Given the description of an element on the screen output the (x, y) to click on. 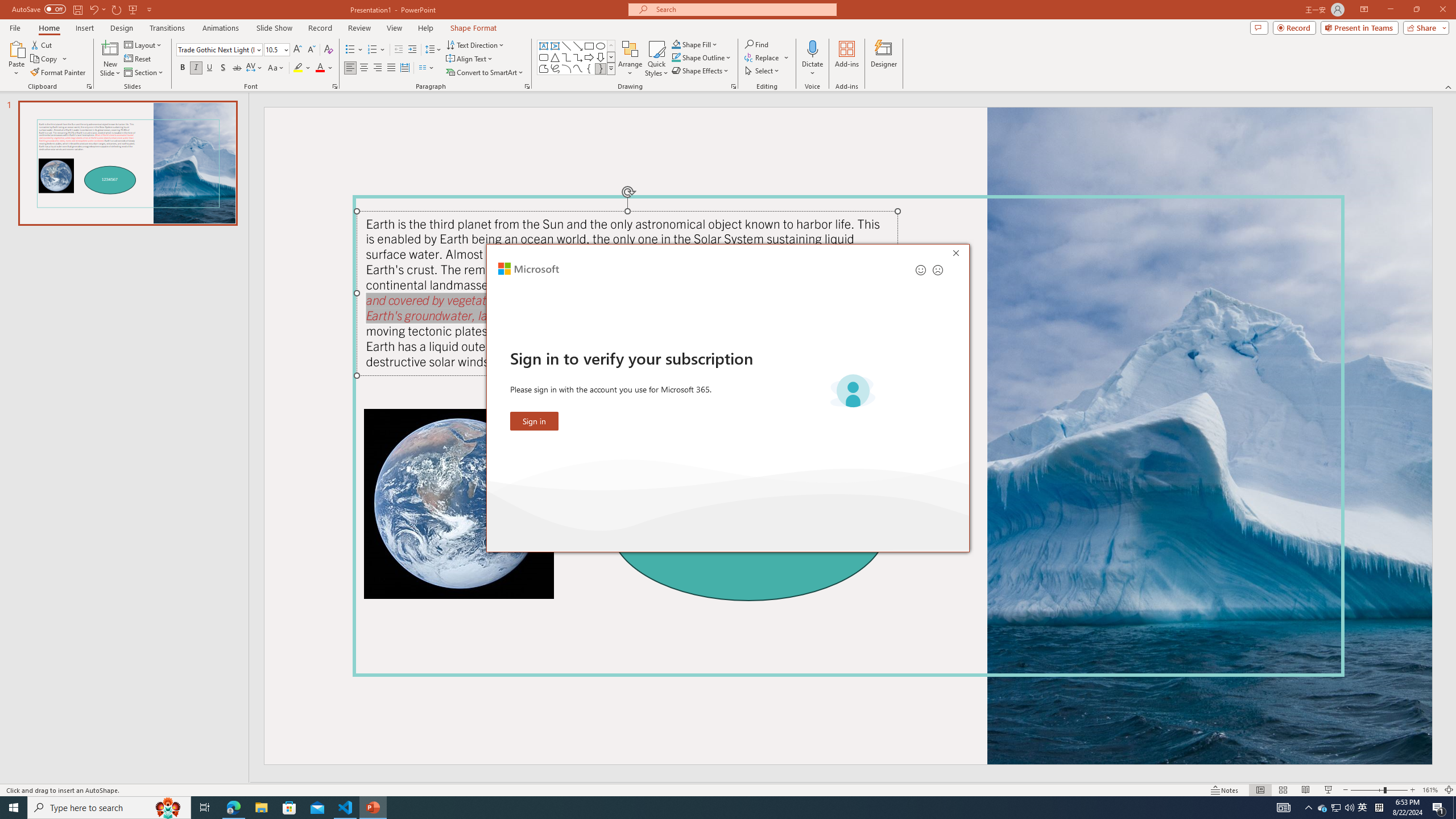
Shape Fill Aqua, Accent 2 (675, 44)
Zoom 161% (1430, 790)
